Given the description of an element on the screen output the (x, y) to click on. 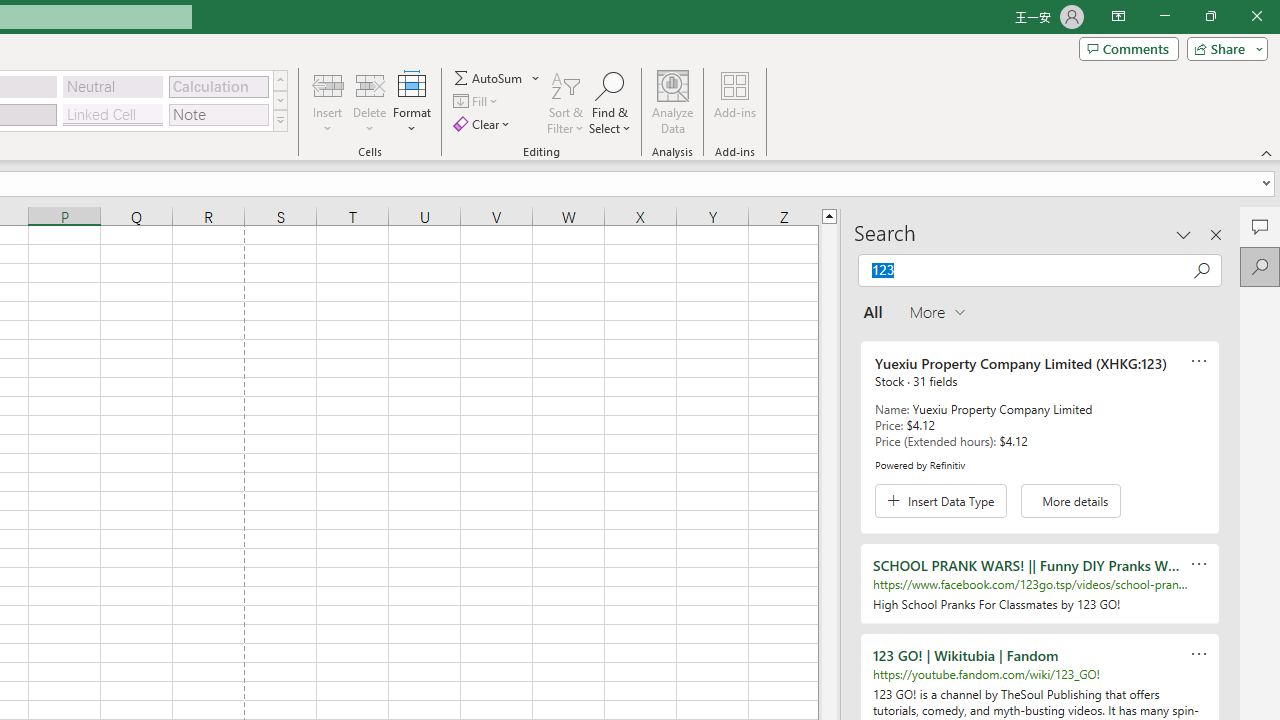
Fill (477, 101)
Sort & Filter (566, 102)
Search (1260, 266)
Cell Styles (280, 120)
Linked Cell (113, 114)
Clear (483, 124)
Class: NetUIImage (280, 120)
Calculation (218, 86)
Note (218, 114)
Row Down (280, 100)
Format (411, 102)
